Given the description of an element on the screen output the (x, y) to click on. 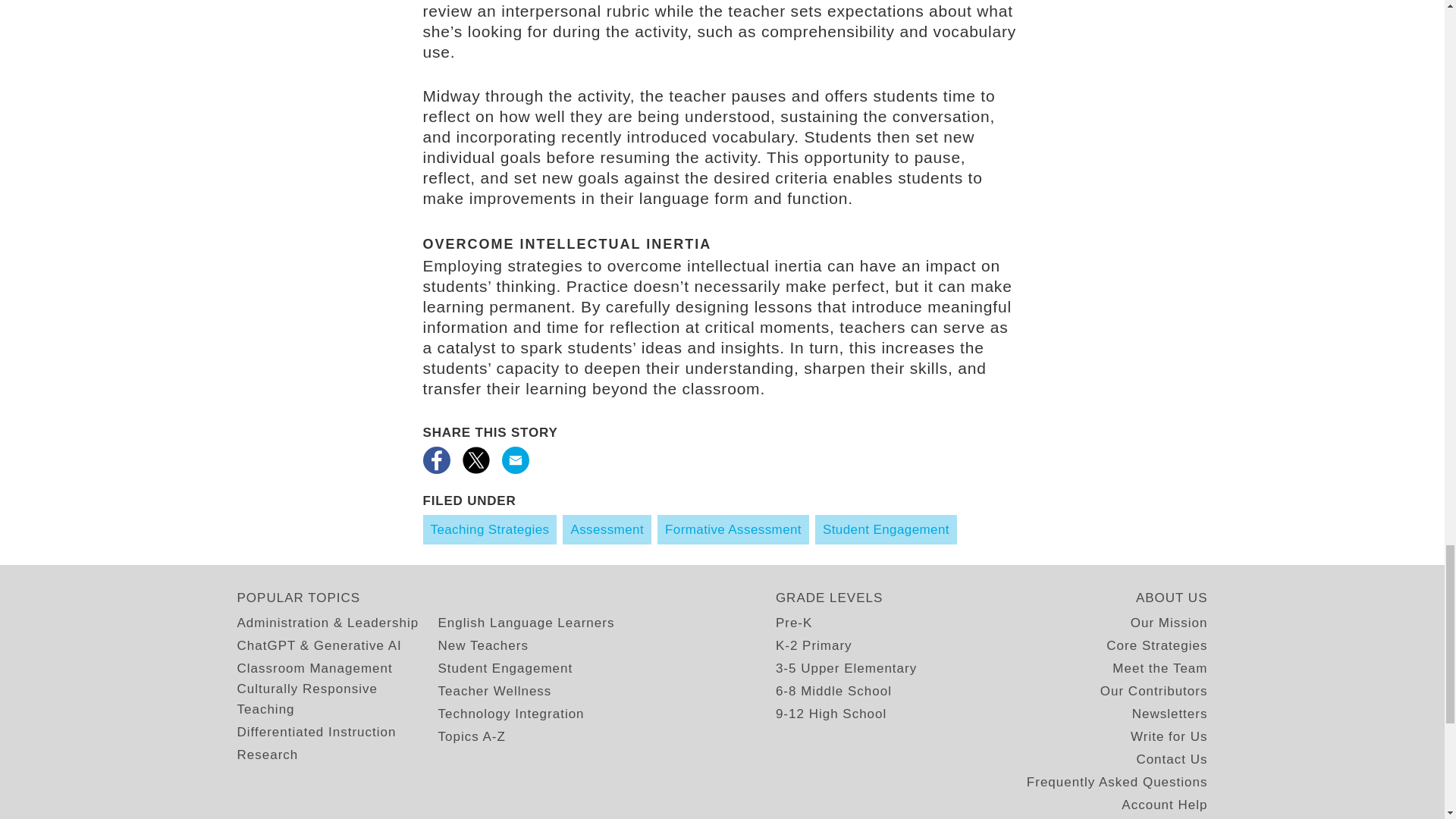
English Language Learners (526, 622)
Culturally Responsive Teaching (336, 698)
New Teachers (483, 645)
Classroom Management (313, 668)
Teacher Wellness (494, 690)
Assessment (606, 529)
Research (266, 754)
Differentiated Instruction (315, 731)
Teaching Strategies (490, 529)
Student Engagement (885, 529)
